Given the description of an element on the screen output the (x, y) to click on. 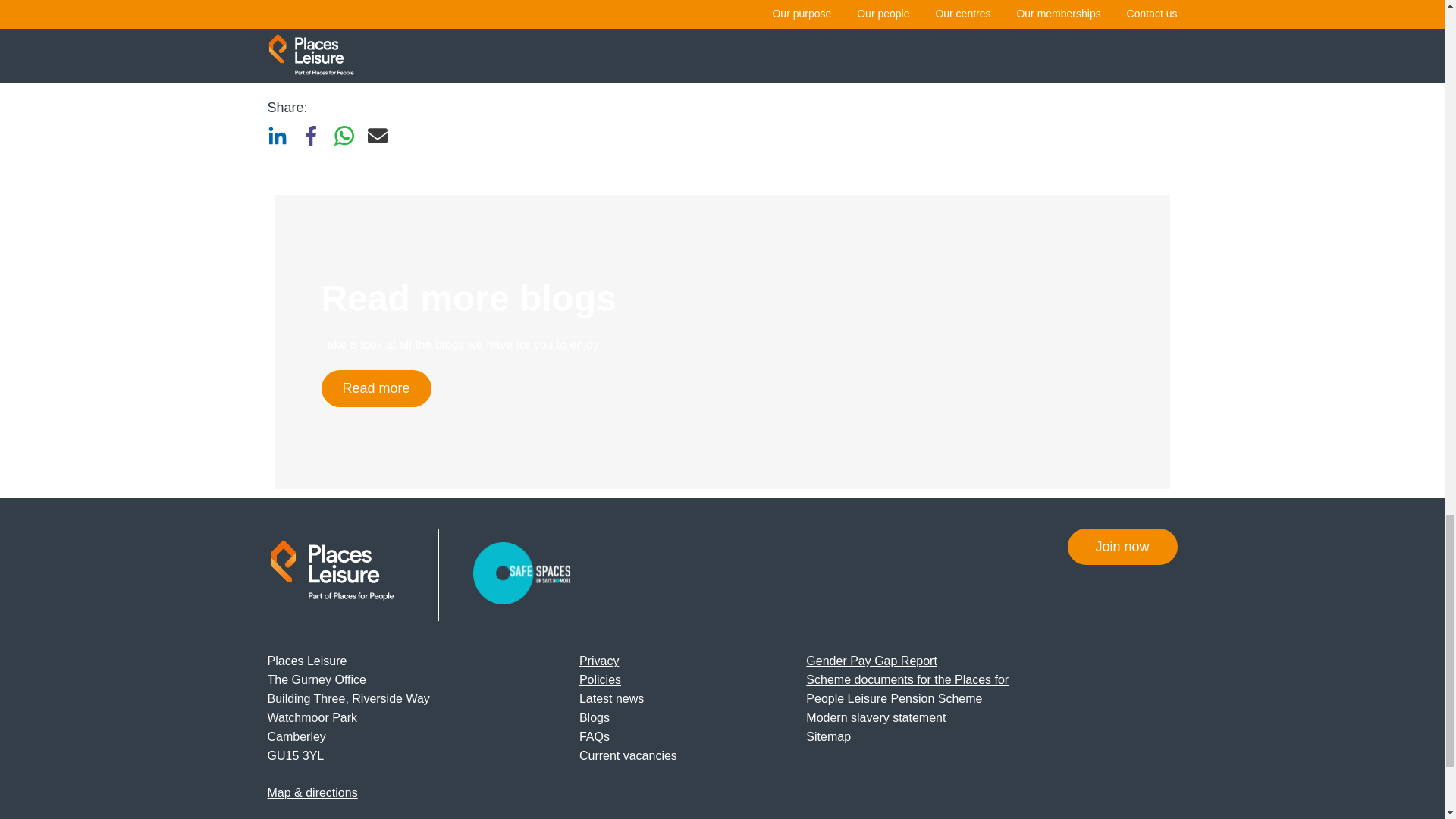
Read more (375, 388)
Join now (1122, 546)
FAQs (594, 736)
Current vacancies (628, 755)
Modern slavery statement (875, 717)
Sitemap (828, 736)
Blogs (594, 717)
Gender Pay Gap Report (871, 660)
Policies (600, 679)
